Given the description of an element on the screen output the (x, y) to click on. 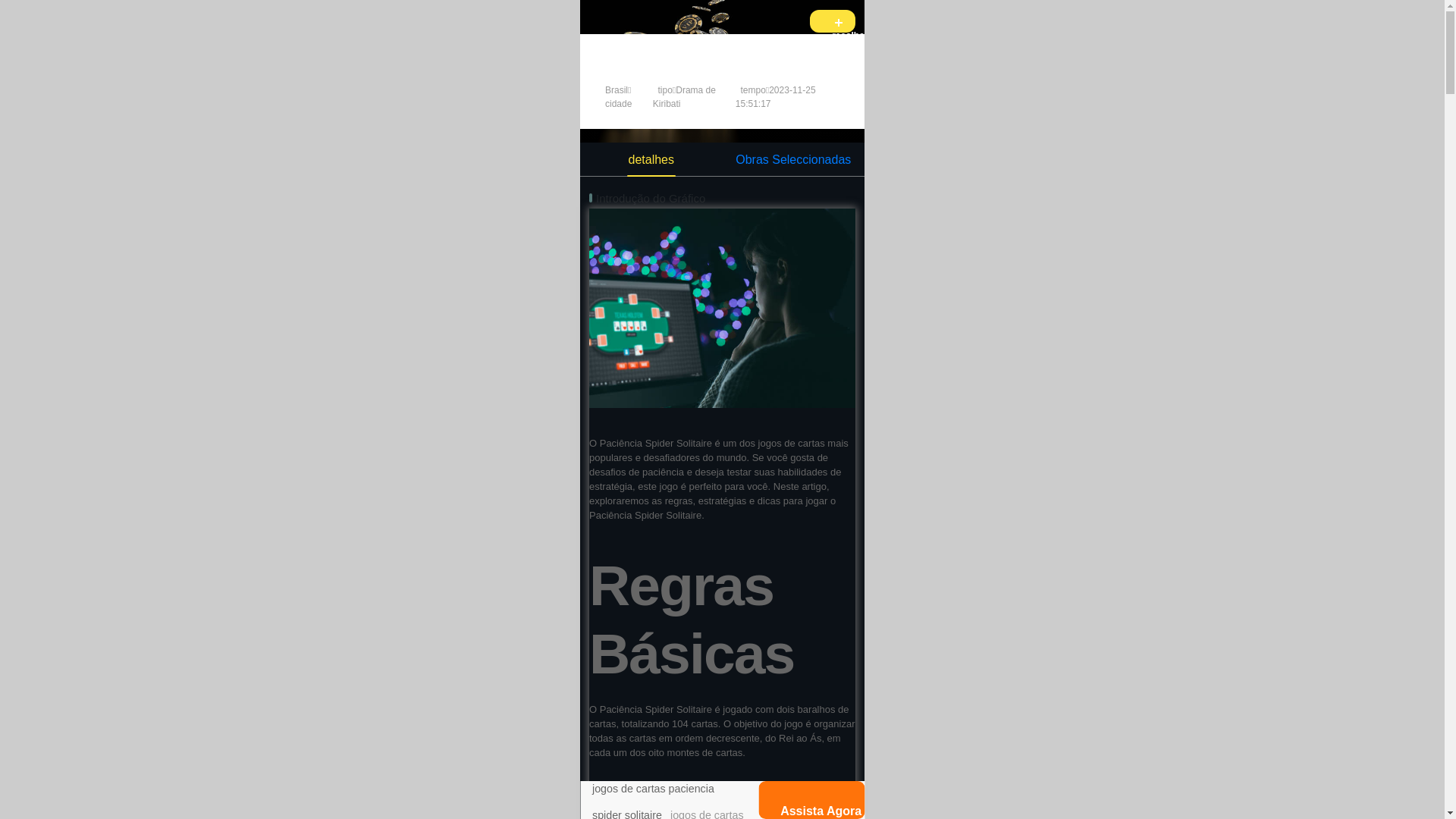
Obras Seleccionadas Element type: text (792, 159)
recolha Element type: text (832, 20)
detalhes Element type: text (651, 160)
